Given the description of an element on the screen output the (x, y) to click on. 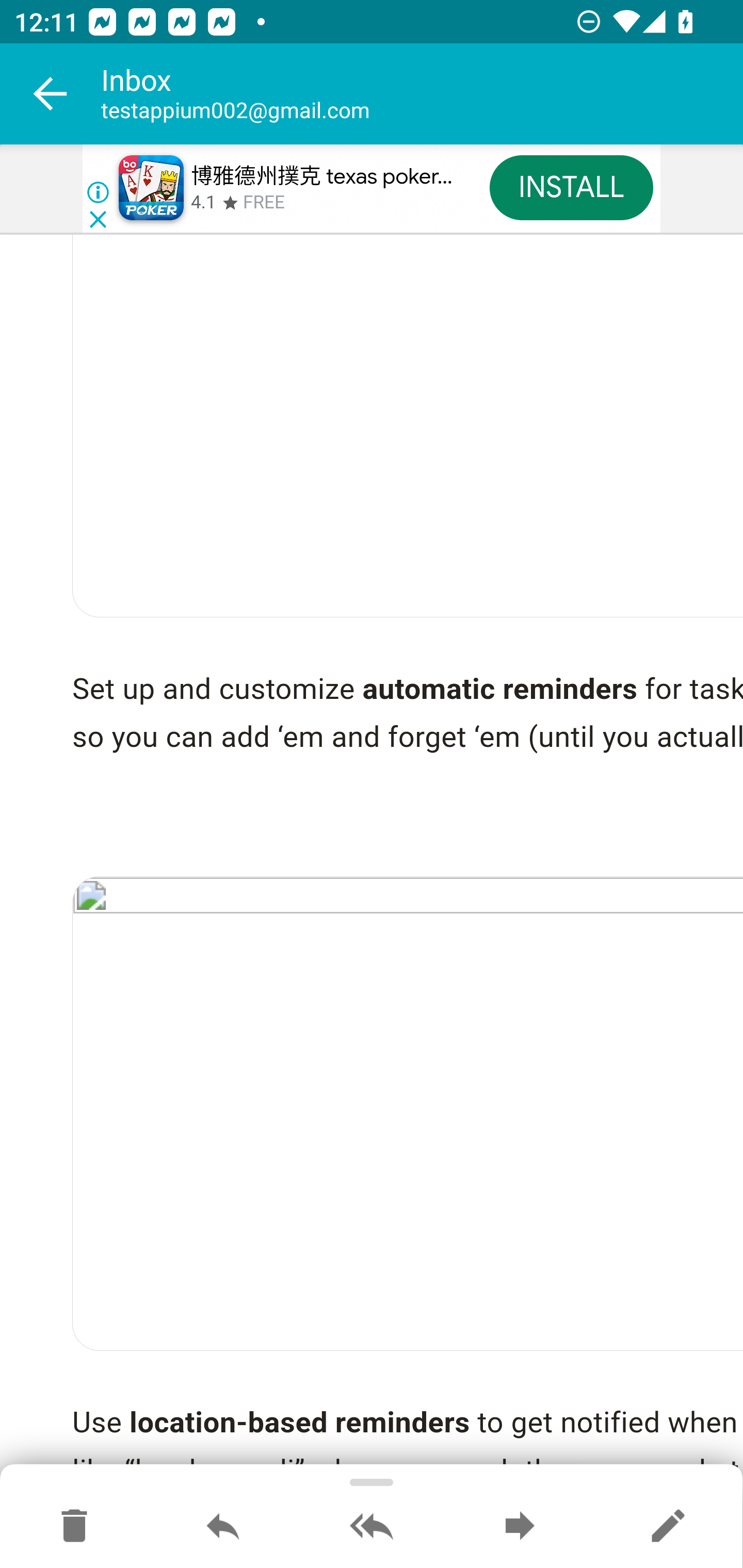
Navigate up (50, 93)
Inbox testappium002@gmail.com (422, 93)
INSTALL (570, 187)
博雅德州撲克 texas poker… (321, 177)
Move to Deleted (74, 1527)
Reply (222, 1527)
Reply all (371, 1527)
Forward (519, 1527)
Reply as new (667, 1527)
